Given the description of an element on the screen output the (x, y) to click on. 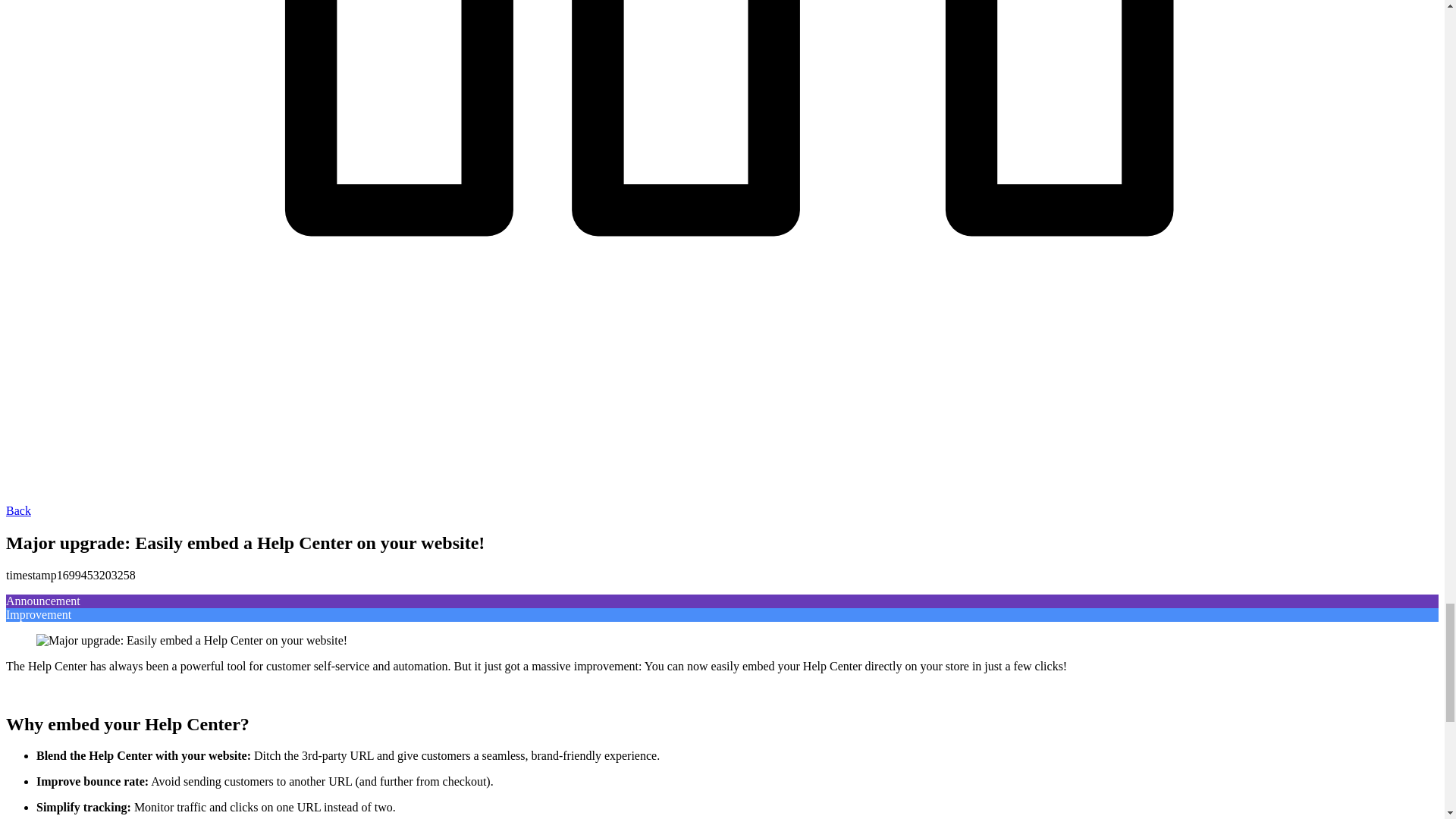
Back (17, 510)
Back (17, 510)
